Given the description of an element on the screen output the (x, y) to click on. 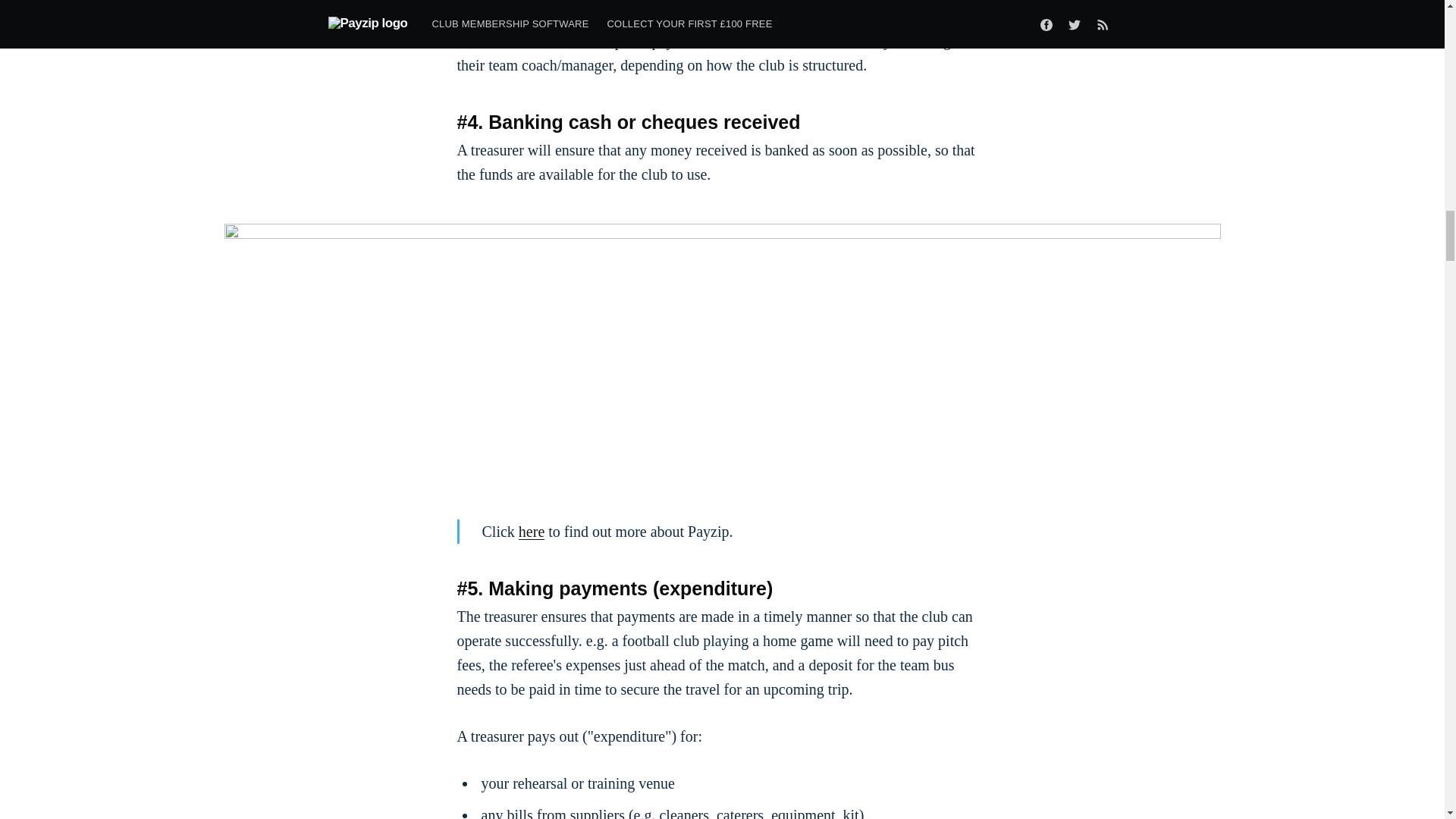
here (531, 531)
